Given the description of an element on the screen output the (x, y) to click on. 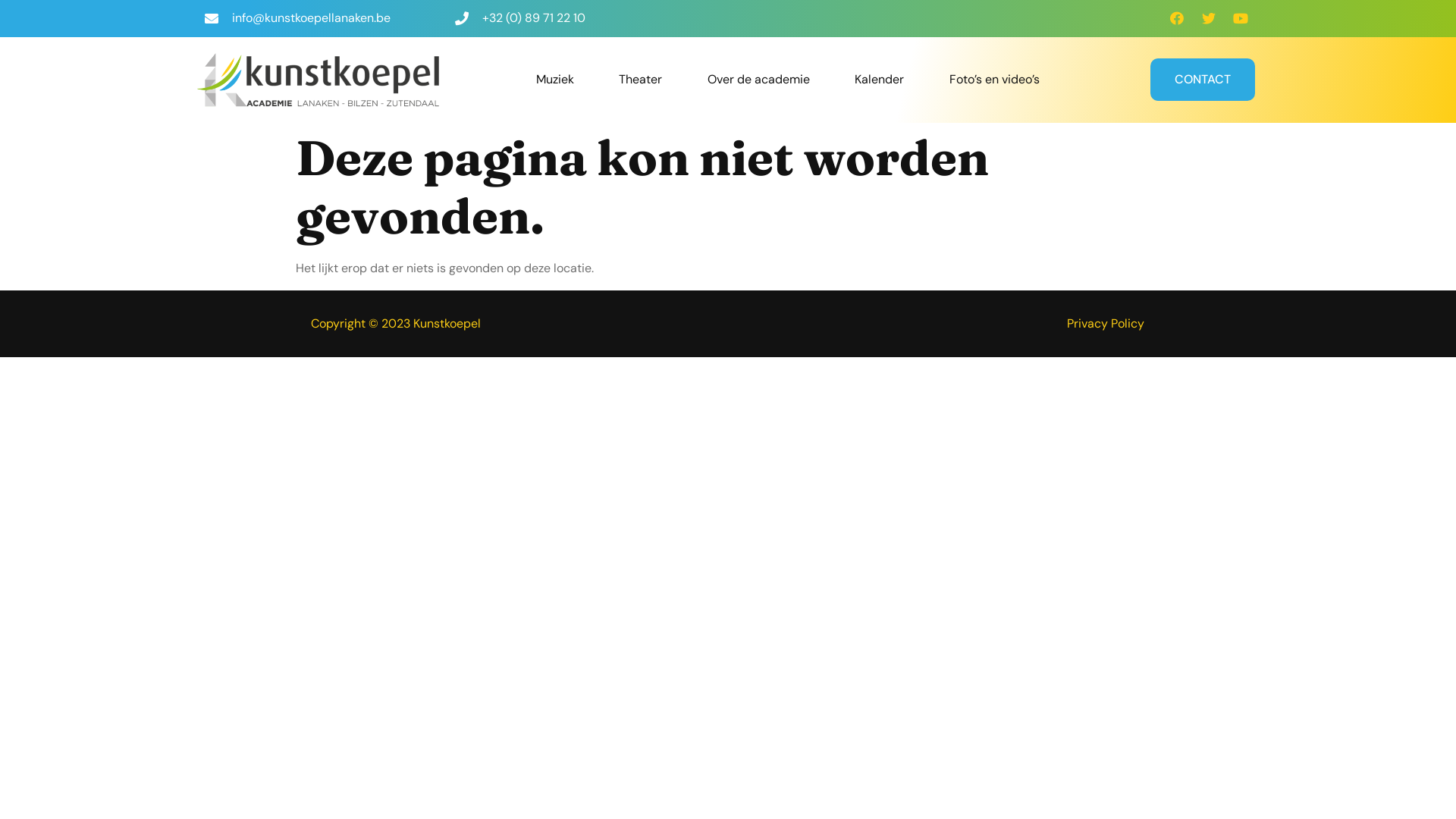
Privacy Policy Element type: text (1105, 323)
Over de academie Element type: text (758, 79)
Kalender Element type: text (879, 79)
CONTACT Element type: text (1202, 79)
Theater Element type: text (640, 79)
Muziek Element type: text (554, 79)
